Given the description of an element on the screen output the (x, y) to click on. 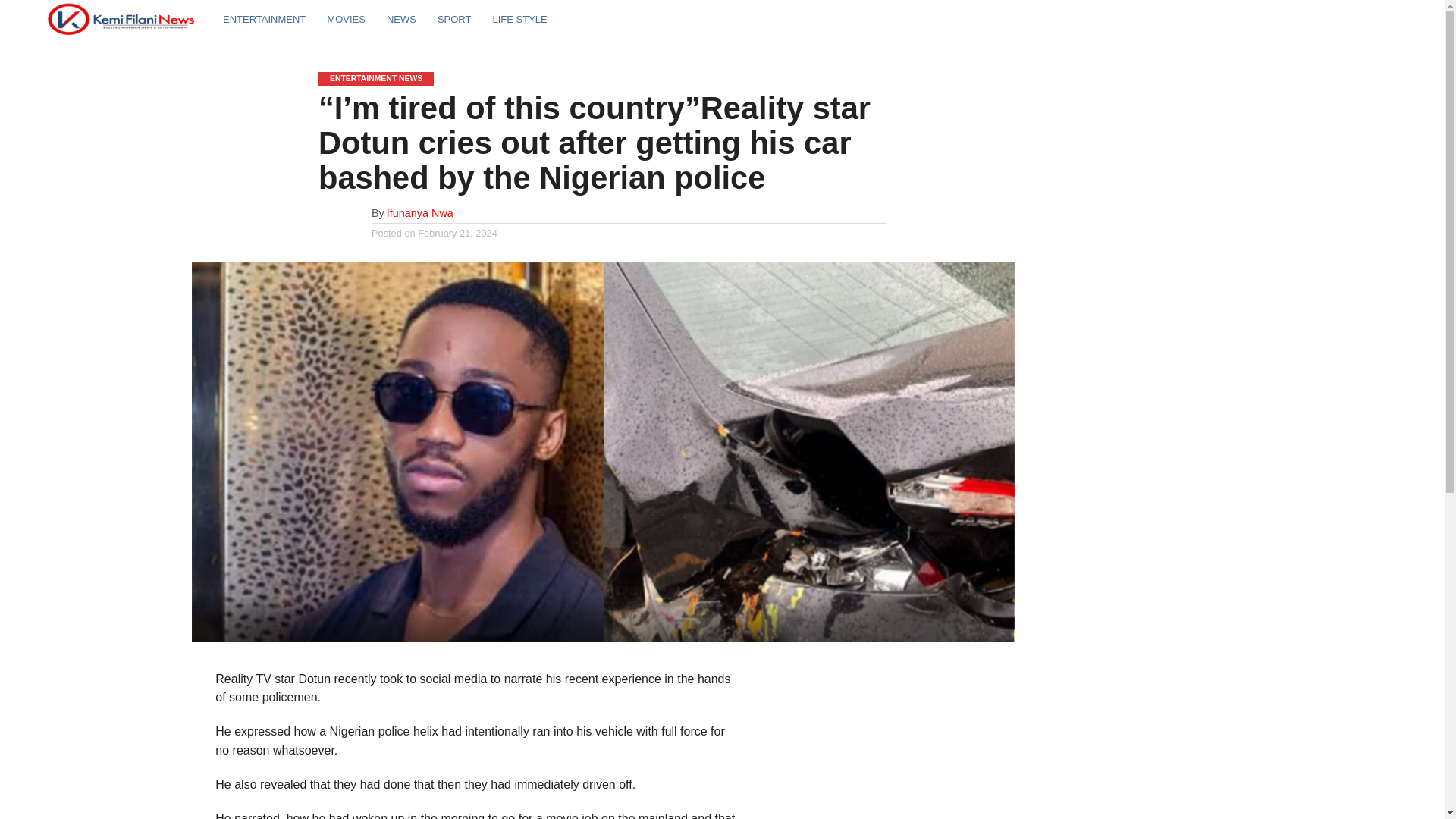
NEWS (400, 18)
Posts by Ifunanya Nwa (419, 213)
LIFE STYLE (519, 18)
ENTERTAINMENT (263, 18)
SPORT (453, 18)
MOVIES (345, 18)
Ifunanya Nwa (419, 213)
